Given the description of an element on the screen output the (x, y) to click on. 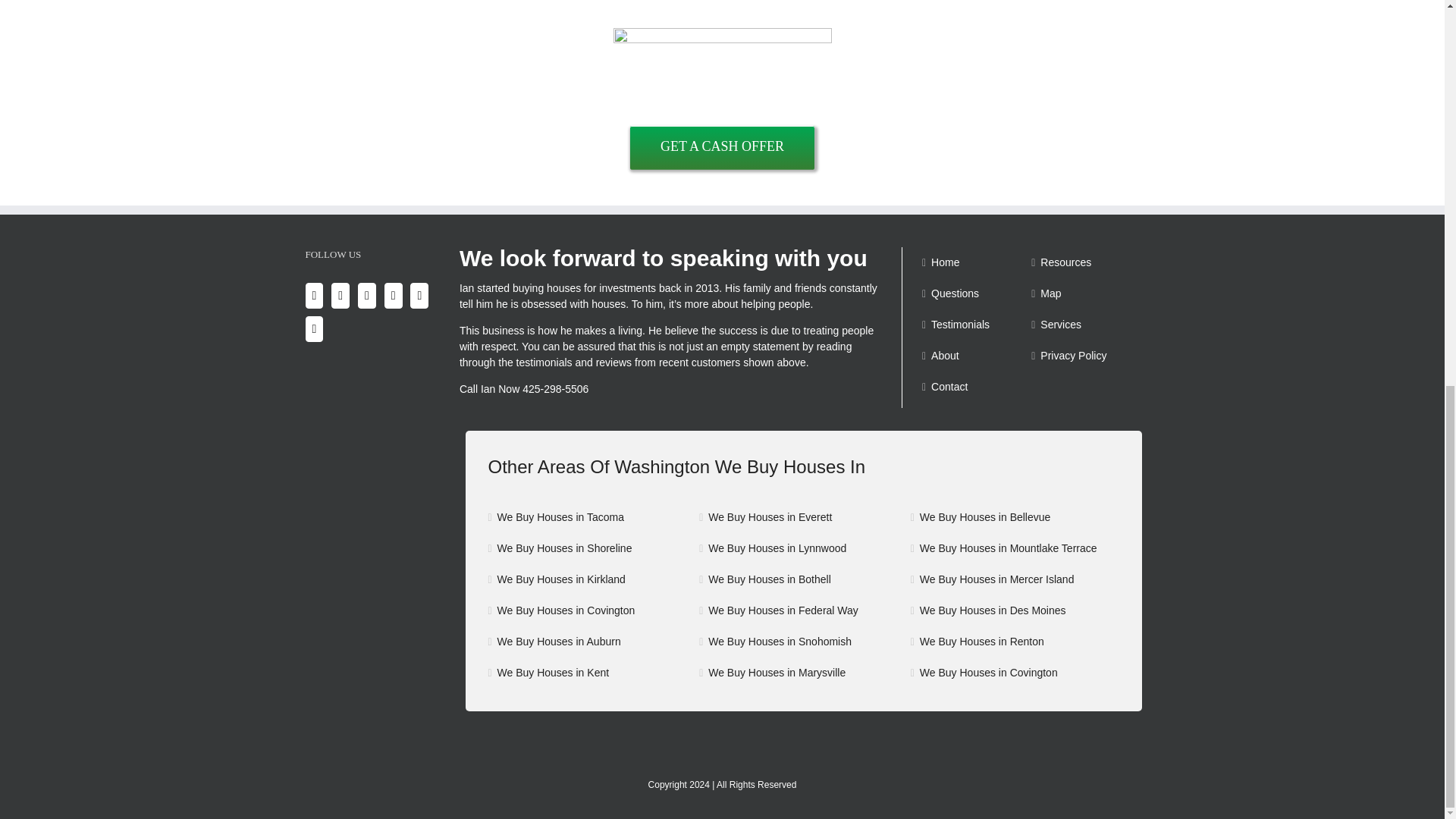
Testimonials (975, 324)
start-here (721, 76)
Home (975, 262)
We Buy Houses in Bellevue (1016, 517)
We Buy Houses in Des Moines (1016, 610)
Privacy Policy (1085, 355)
We Buy Houses in Lynnwood (803, 548)
Questions (975, 293)
About (975, 355)
We Buy Houses in Bothell (803, 579)
